Given the description of an element on the screen output the (x, y) to click on. 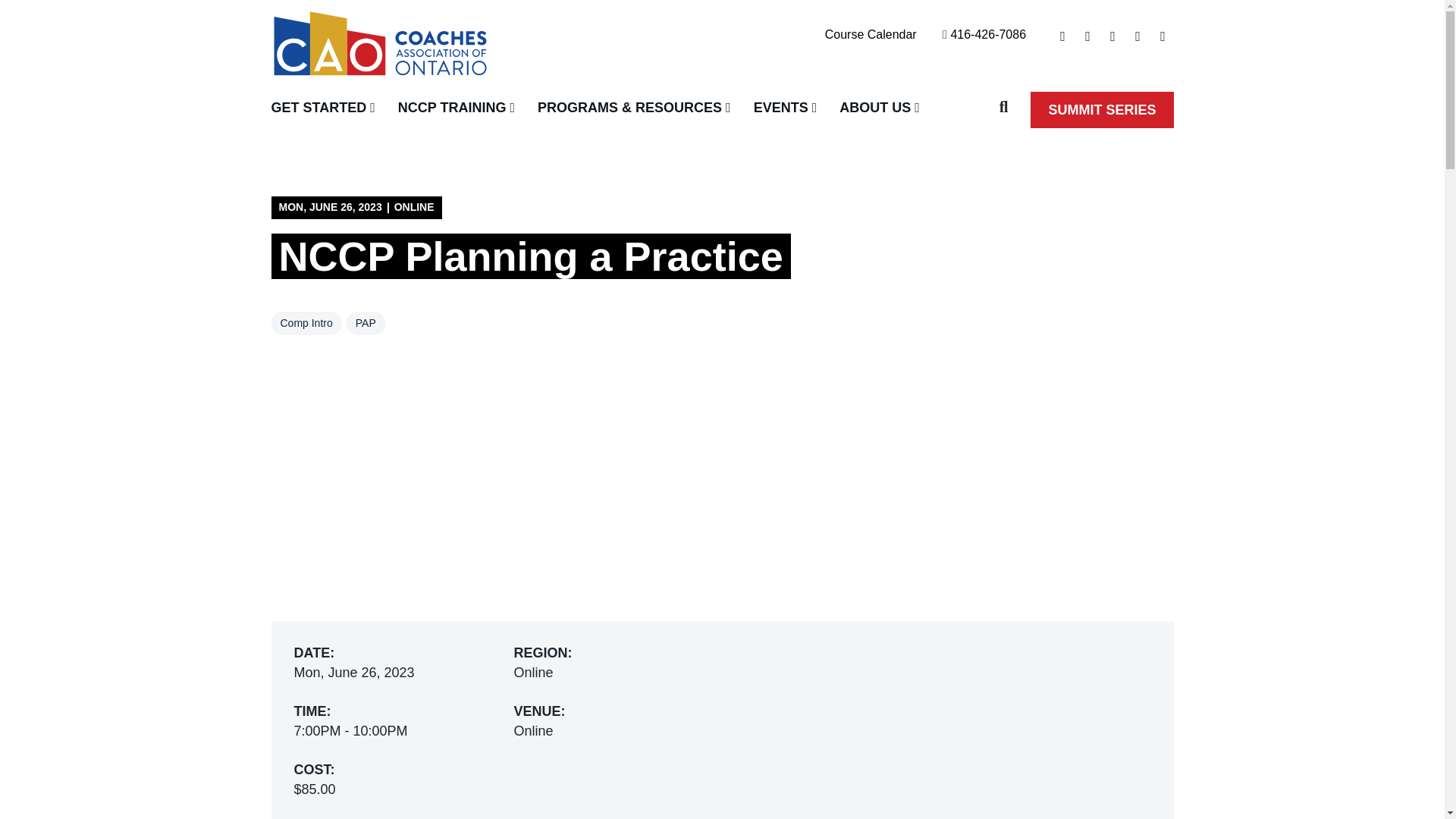
Click here to visit our Twitter page (1063, 36)
Click here to visit our Instagram page (456, 110)
Course Calendar (328, 110)
Click here to visit our Facebook page (1113, 36)
Click here to visit our LinkedIn page (871, 33)
416-426-7086 (1087, 36)
Click here to visit our Youtube page (1137, 36)
